Given the description of an element on the screen output the (x, y) to click on. 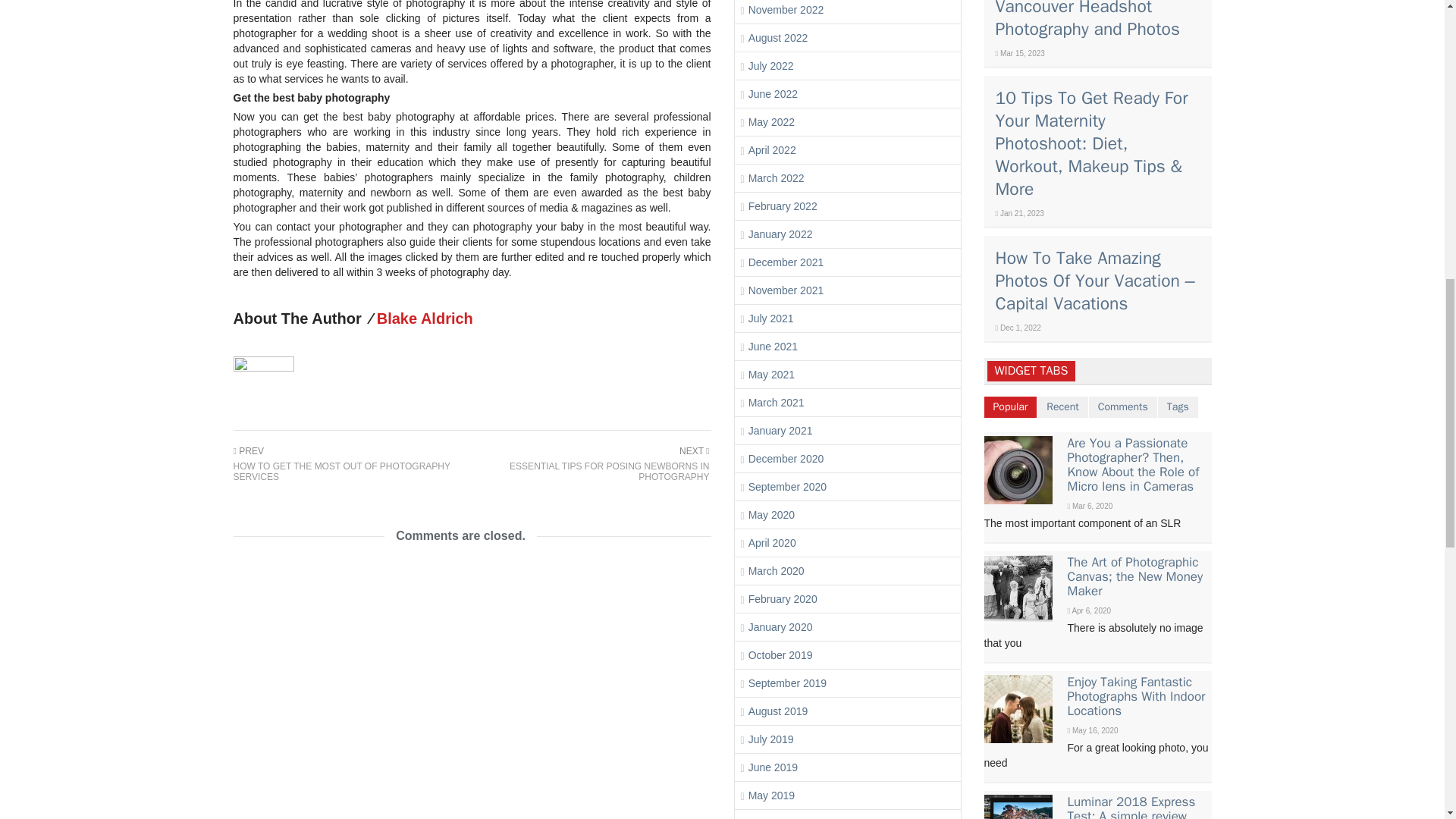
March 2022 (776, 177)
April 2022 (772, 150)
November 2022 (786, 9)
December 2021 (786, 262)
May 2022 (590, 463)
The Importance of Vancouver Headshot Photography and Photos (771, 121)
February 2022 (1086, 20)
August 2022 (351, 463)
June 2022 (782, 205)
January 2022 (778, 37)
July 2022 (772, 93)
